Given the description of an element on the screen output the (x, y) to click on. 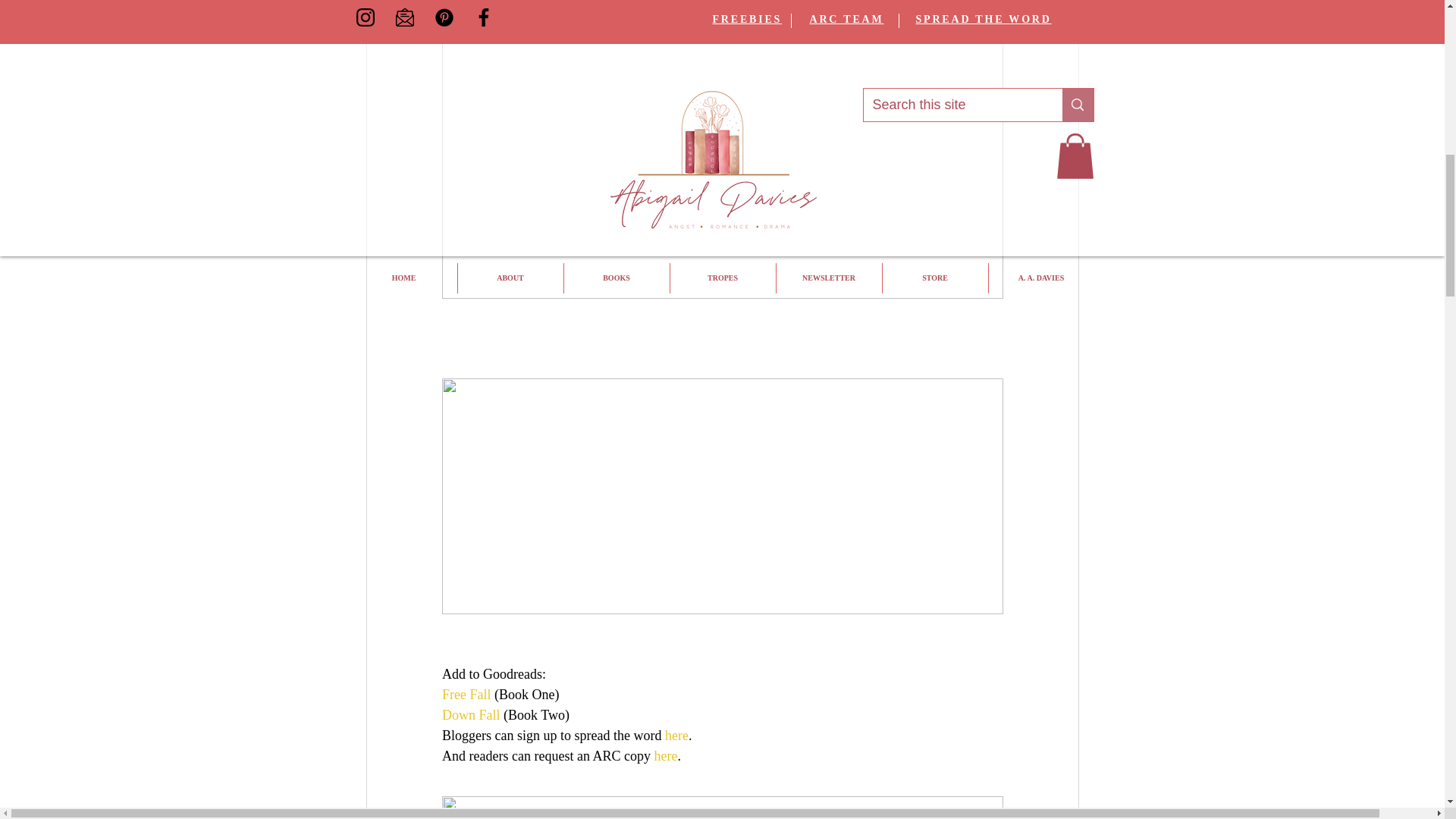
 here (674, 735)
Free Fall (465, 694)
here (665, 755)
Down Fall (470, 714)
